Given the description of an element on the screen output the (x, y) to click on. 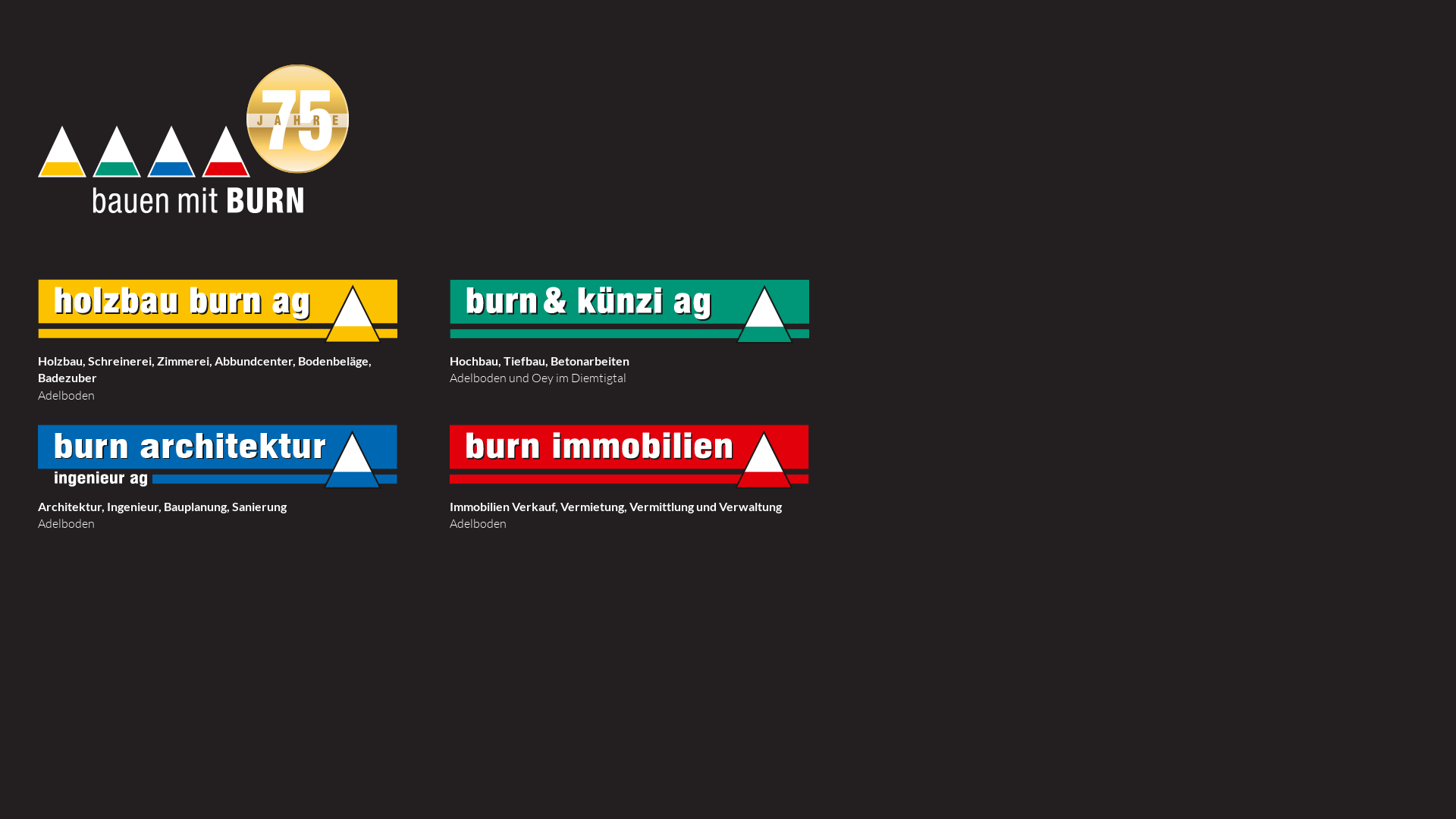
Architektur, Ingenieur, Bauplanung, Sanierung
Adelboden Element type: text (218, 554)
